Given the description of an element on the screen output the (x, y) to click on. 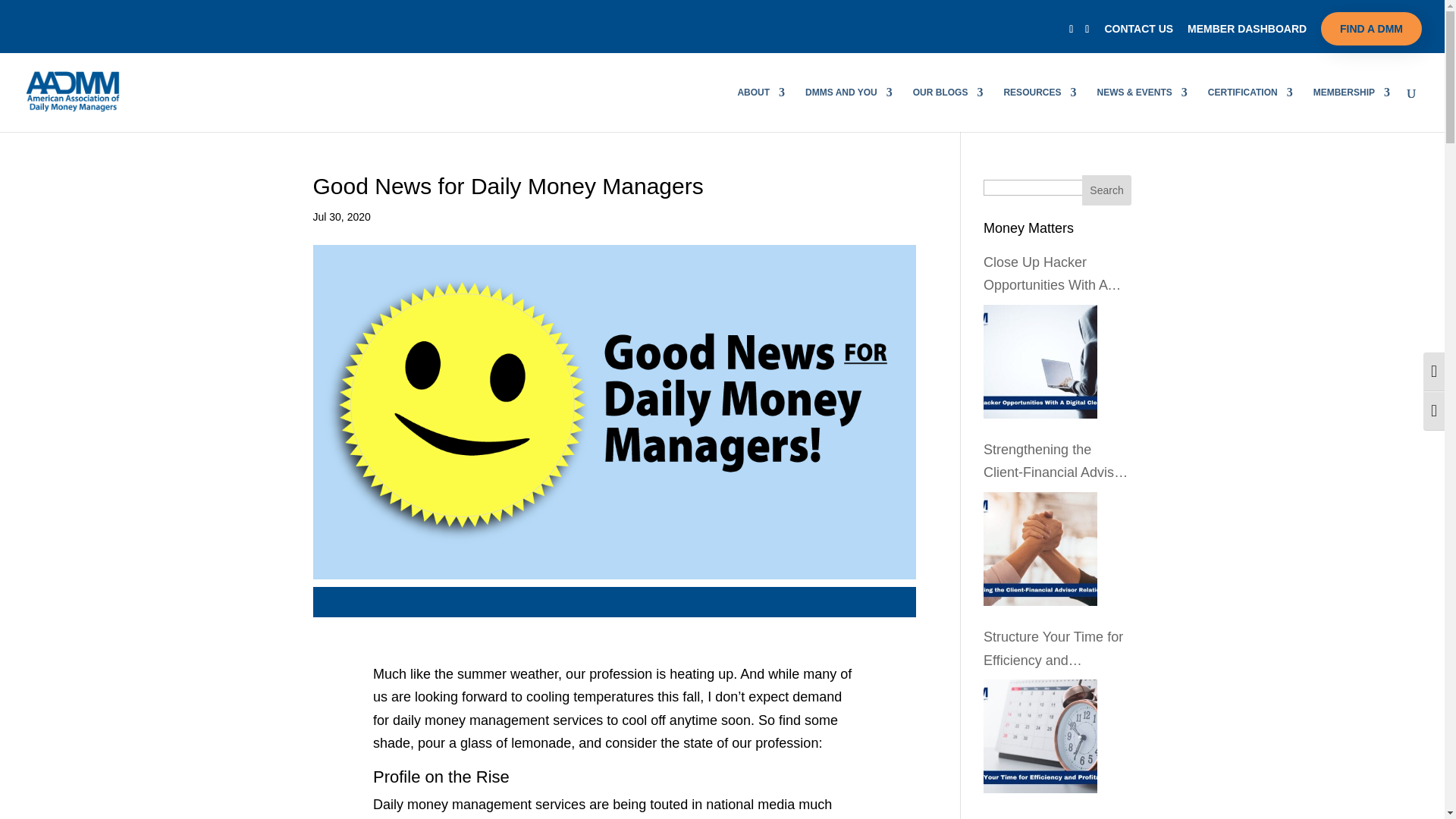
OUR BLOGS (948, 108)
CONTACT US (1138, 31)
FIND A DMM (1371, 28)
MEMBER DASHBOARD (1247, 31)
RESOURCES (1039, 108)
Search (1106, 190)
DMMS AND YOU (848, 108)
ABOUT (760, 108)
